Given the description of an element on the screen output the (x, y) to click on. 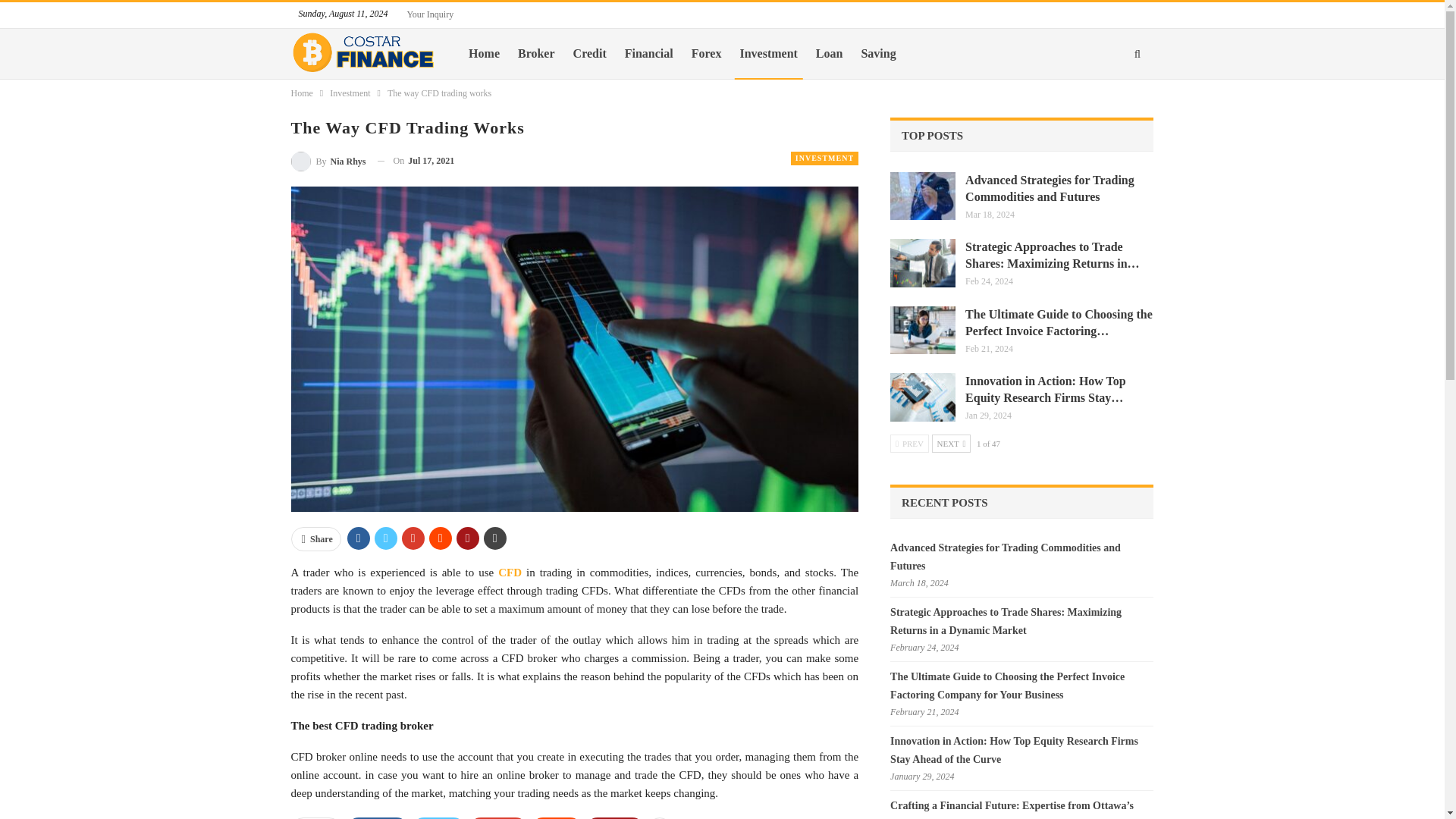
Pinterest (614, 818)
Facebook (378, 818)
Advanced Strategies for Trading Commodities and Futures (922, 195)
Investment (349, 93)
Financial (649, 53)
ReddIt (556, 818)
INVESTMENT (824, 158)
Broker (536, 53)
Home (302, 93)
Browse Author Articles (328, 160)
